Given the description of an element on the screen output the (x, y) to click on. 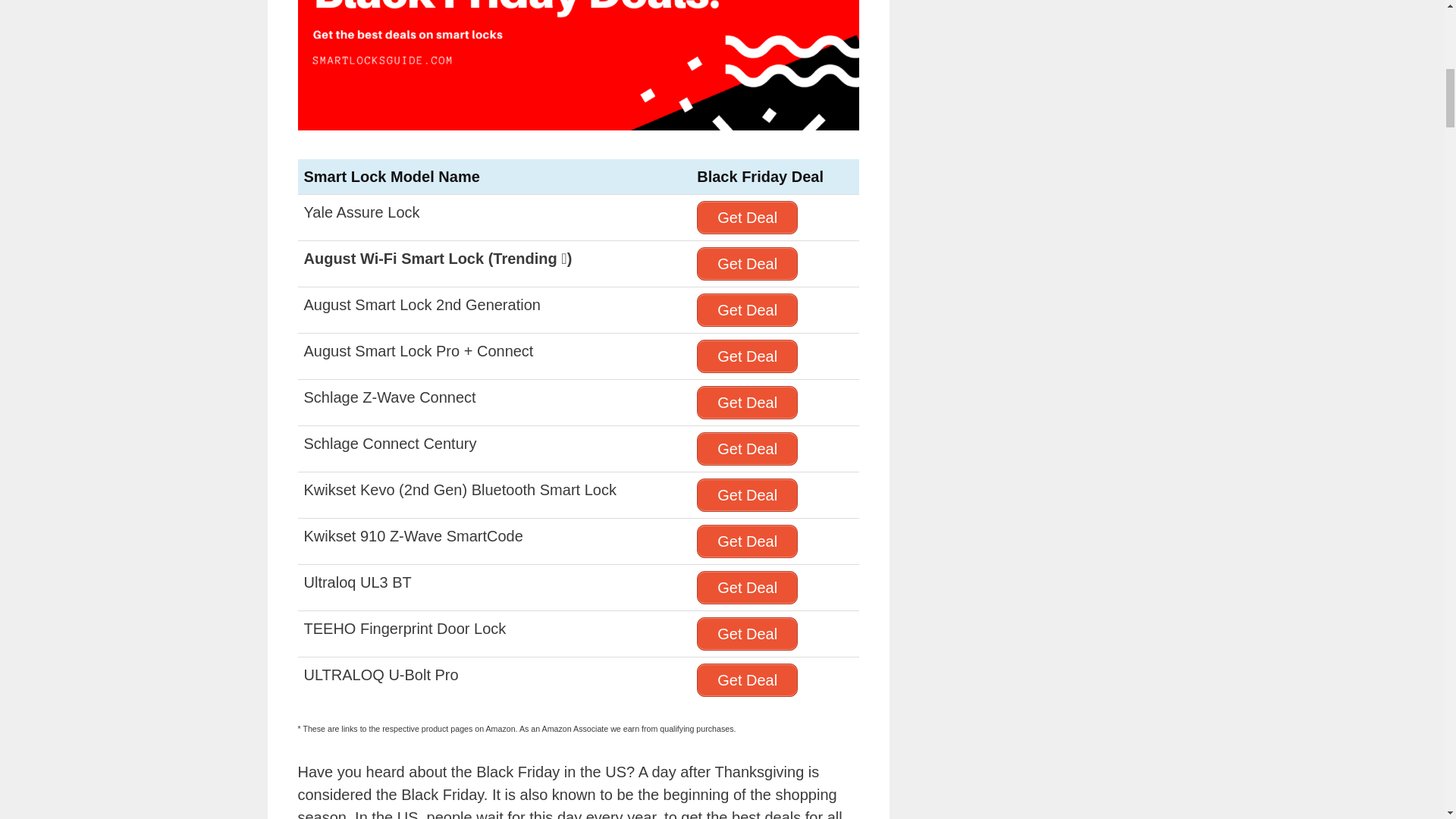
Get Deal (747, 356)
Get Deal (747, 402)
Get Deal (747, 449)
Get Deal (747, 309)
Get Deal (747, 263)
Get Deal (747, 217)
